Given the description of an element on the screen output the (x, y) to click on. 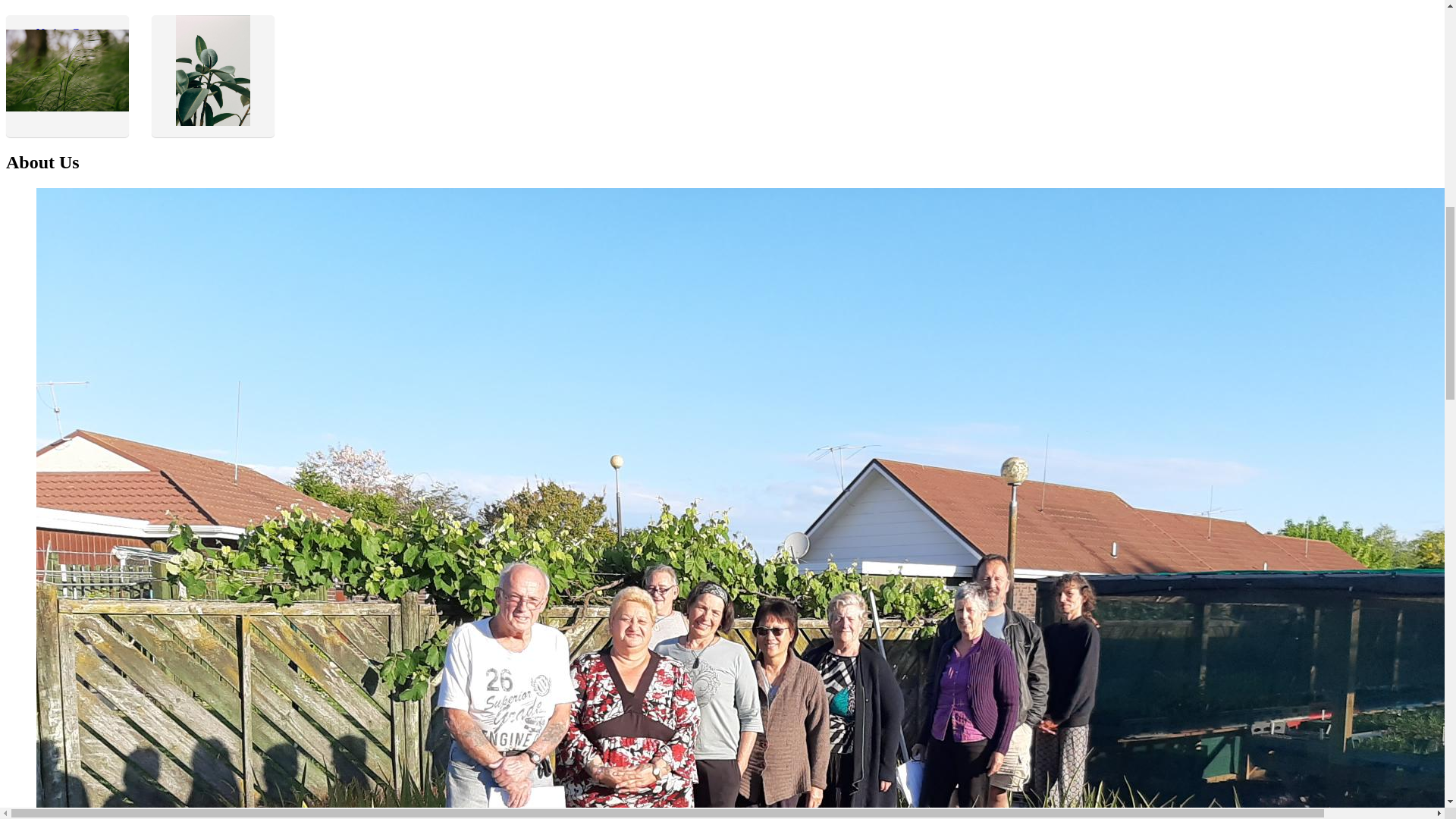
View Native Grass products (67, 76)
View Native Plants products (213, 76)
